Given the description of an element on the screen output the (x, y) to click on. 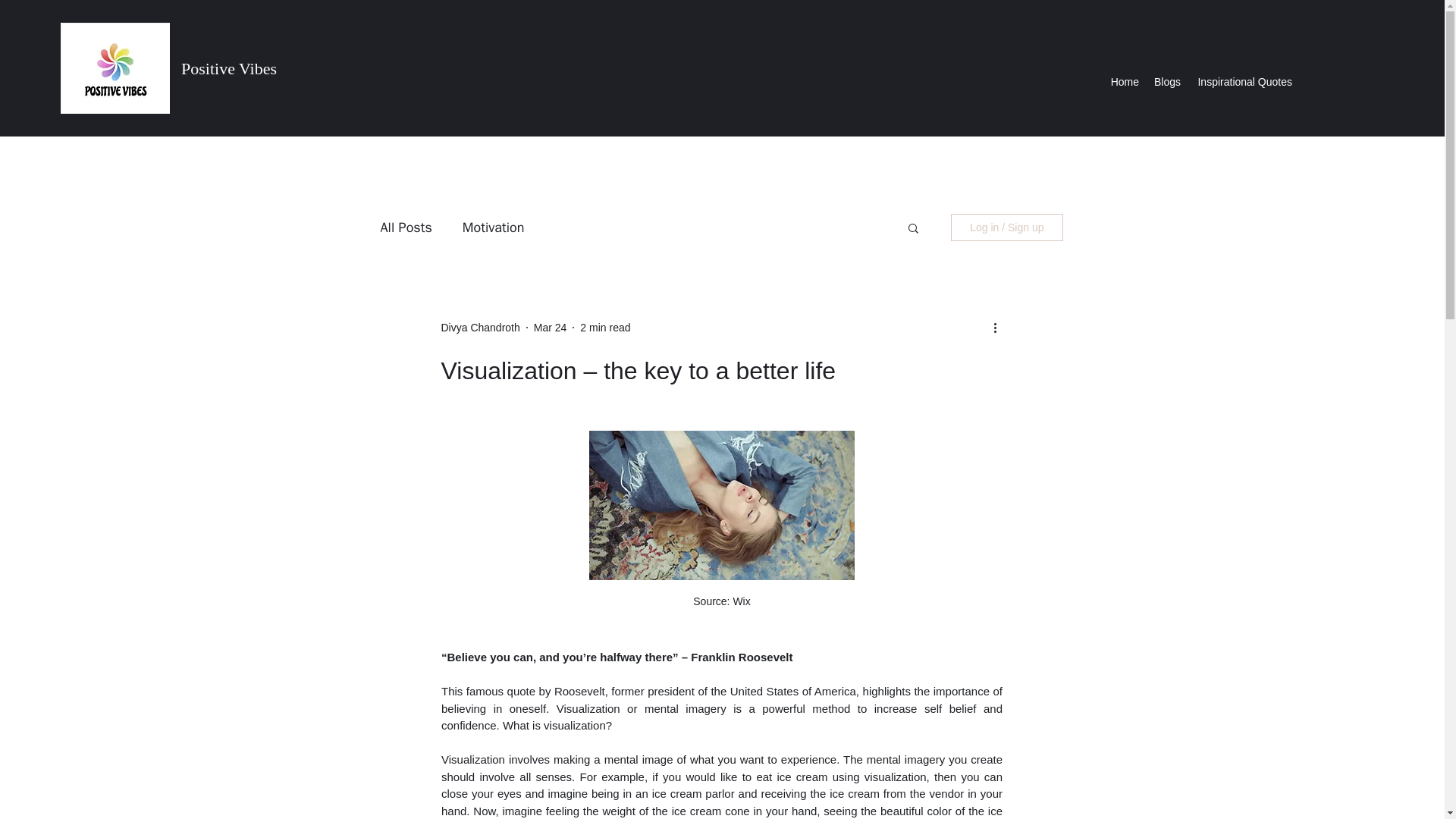
Mar 24 (550, 327)
2 min read (604, 327)
Home (1124, 81)
All Posts (406, 227)
Divya Chandroth (480, 327)
Blogs (1167, 81)
Inspirational Quotes (1244, 81)
Motivation (493, 227)
